Given the description of an element on the screen output the (x, y) to click on. 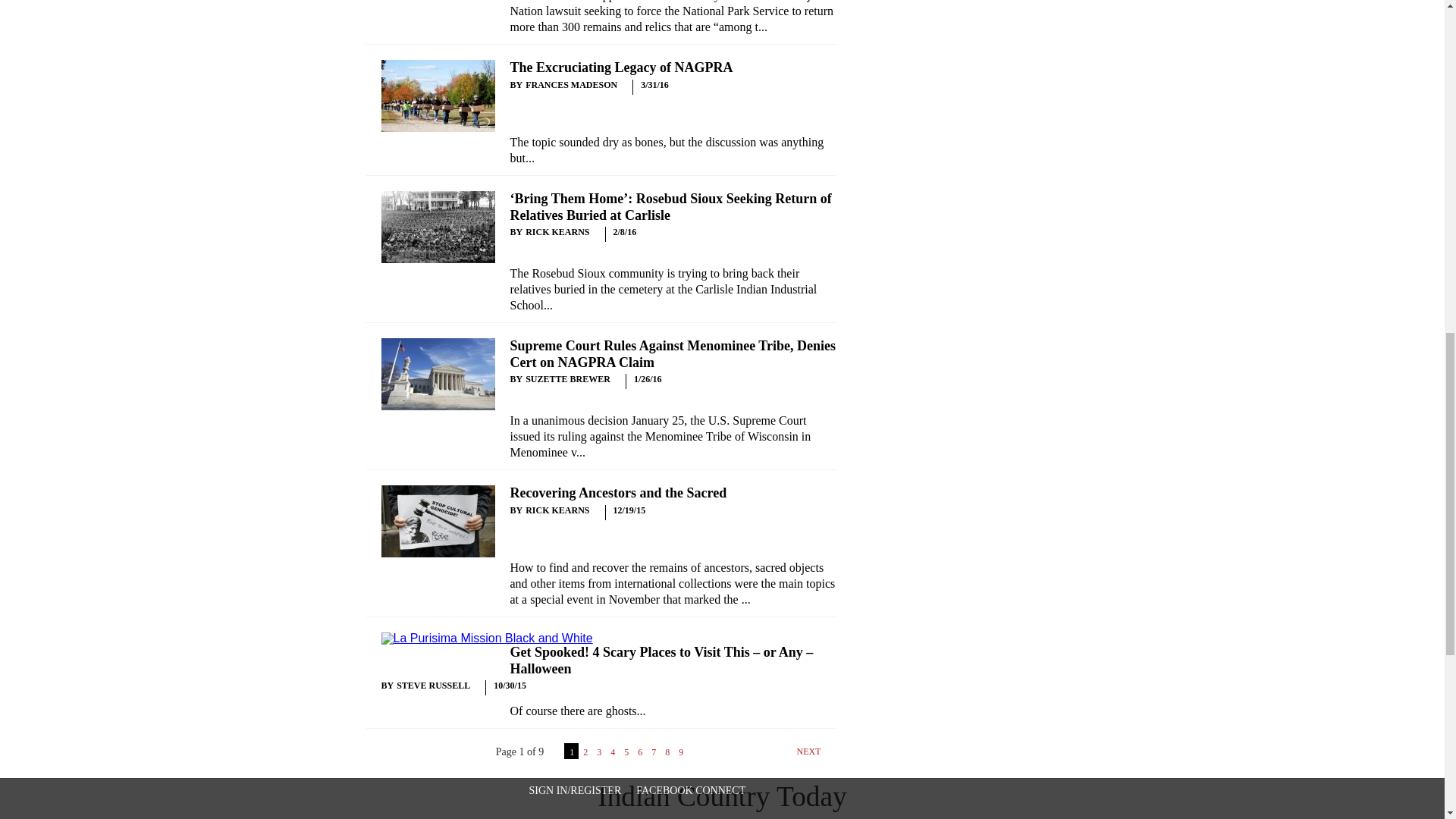
La Purisima Mission Black and White (486, 638)
Carlisle Students Wikipedia (437, 226)
Go to last page (720, 756)
